Given the description of an element on the screen output the (x, y) to click on. 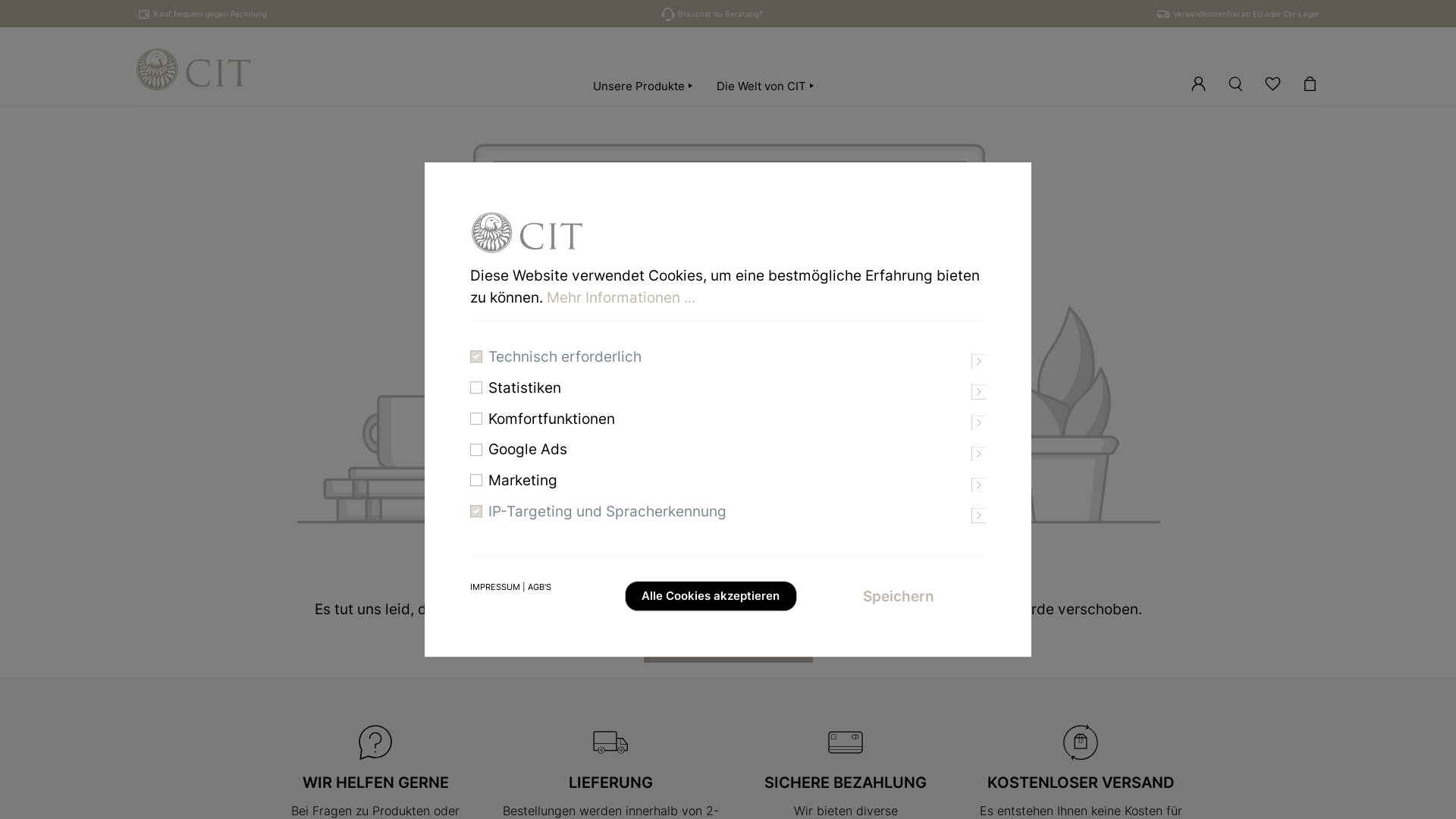
Speichern Element type: text (898, 595)
Zur Startseite wechseln Element type: hover (193, 69)
Brauchst du Beratung? Element type: text (719, 13)
Merkzettel Element type: hover (1272, 81)
Alle Cookies akzeptieren Element type: text (710, 595)
Mehr Informationen ... Element type: text (620, 297)
Mein Konto Element type: hover (1198, 81)
AGB'S Element type: text (539, 586)
Warenkorb Element type: hover (1309, 81)
IMPRESSUM Element type: text (495, 586)
